Given the description of an element on the screen output the (x, y) to click on. 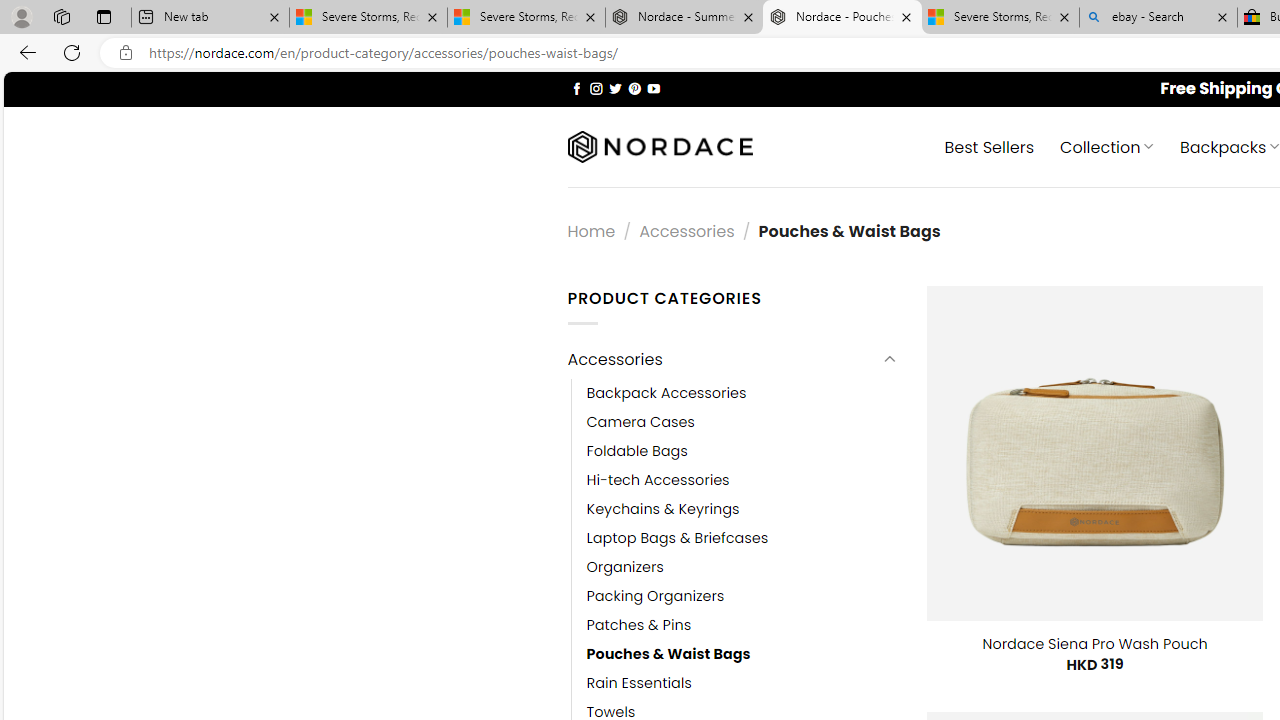
Follow on Twitter (615, 88)
Backpack Accessories (666, 393)
Organizers (742, 566)
Follow on YouTube (653, 88)
Organizers (625, 566)
Nordace Siena Pro Wash Pouch (1094, 643)
Follow on Pinterest (634, 88)
Pouches & Waist Bags (668, 655)
Patches & Pins (742, 625)
Laptop Bags & Briefcases (677, 537)
